Given the description of an element on the screen output the (x, y) to click on. 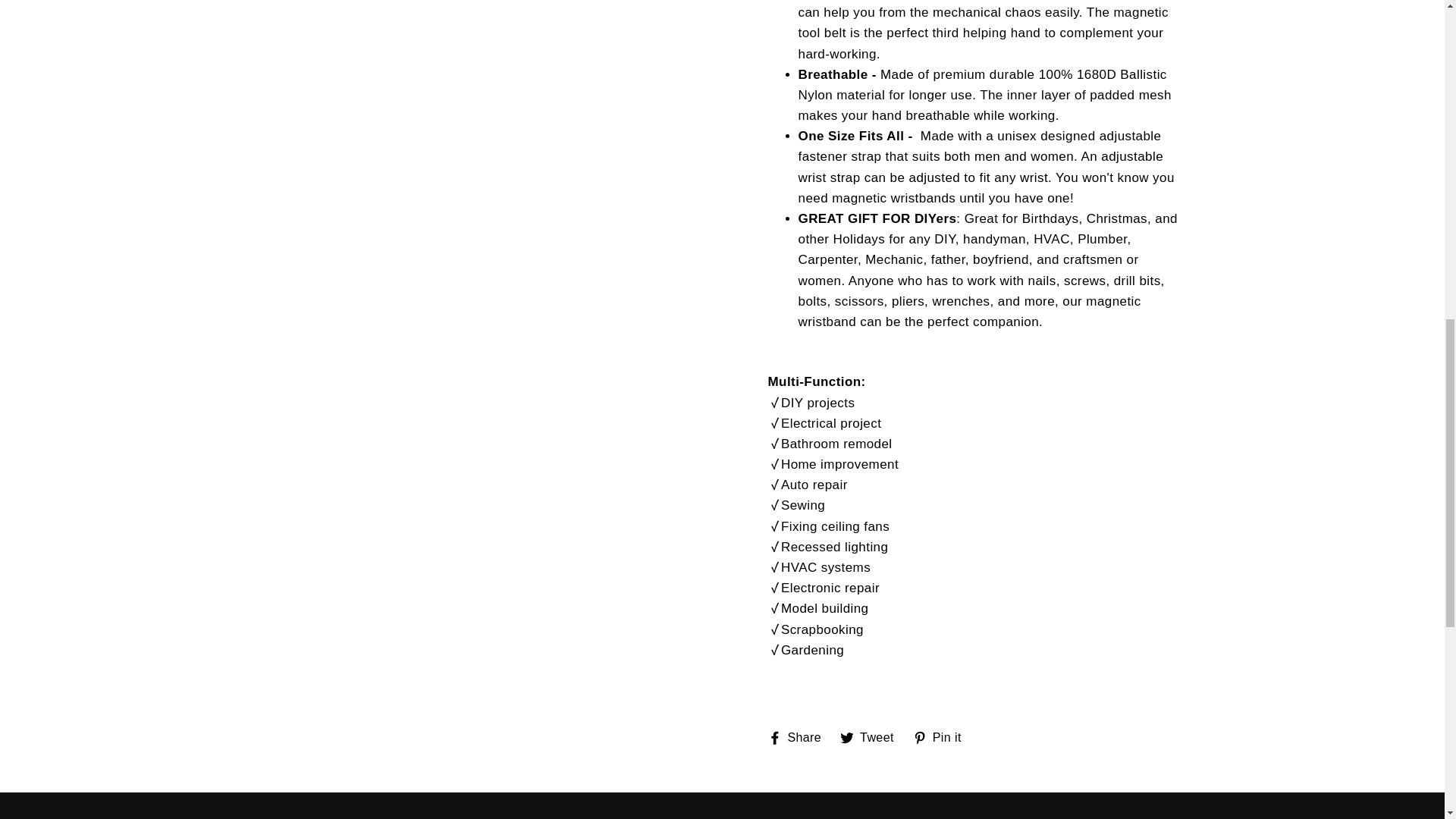
Share on Facebook (799, 736)
Tweet on Twitter (872, 736)
Pin on Pinterest (942, 736)
